Given the description of an element on the screen output the (x, y) to click on. 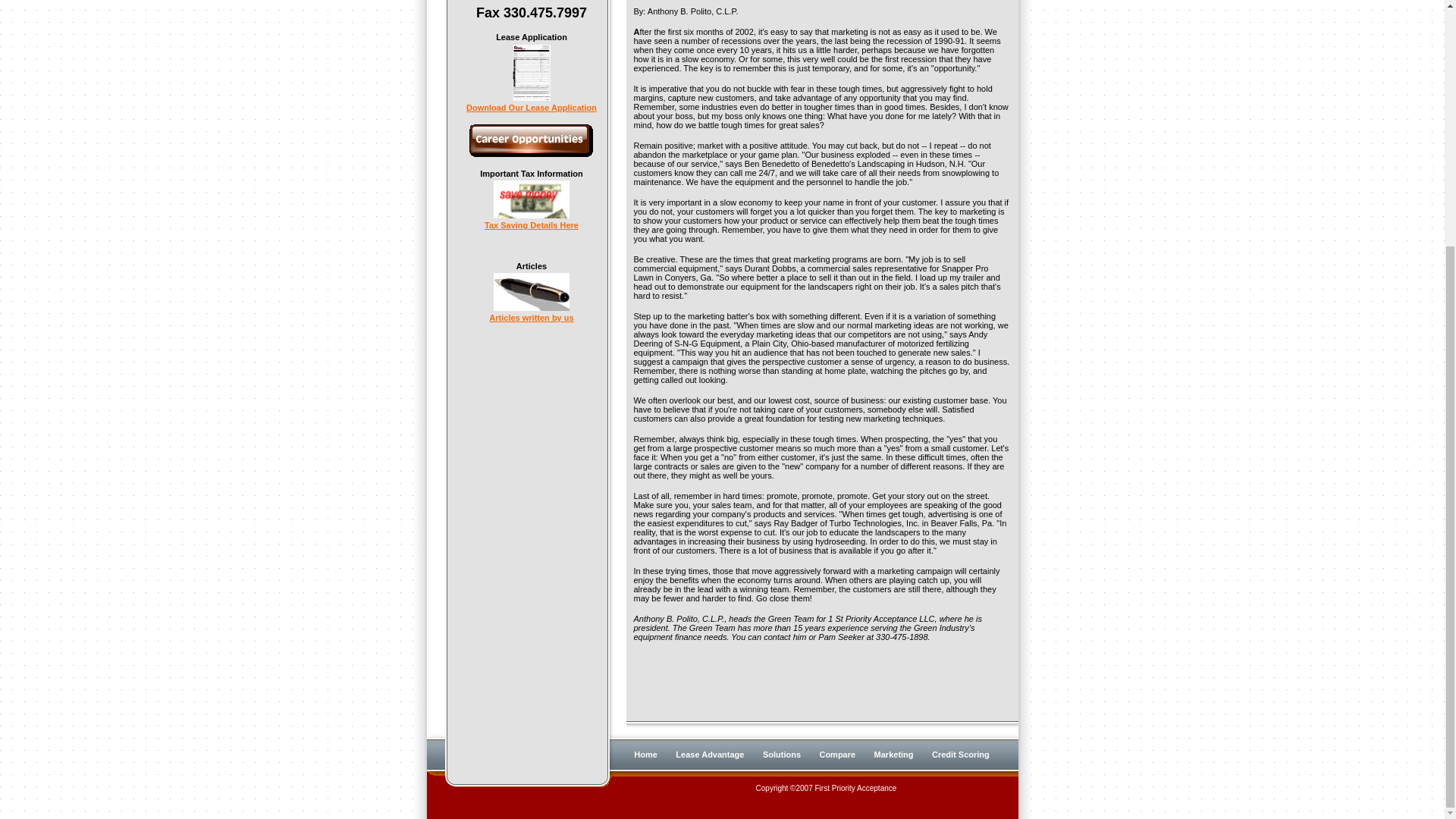
Credit Scoring (960, 754)
Tax Saving Details Here (531, 221)
Compare (837, 754)
Download Our Lease Application (530, 103)
Marketing (894, 754)
Articles written by us (531, 313)
Lease Advantage (709, 754)
Home (645, 754)
Solutions (781, 754)
